Given the description of an element on the screen output the (x, y) to click on. 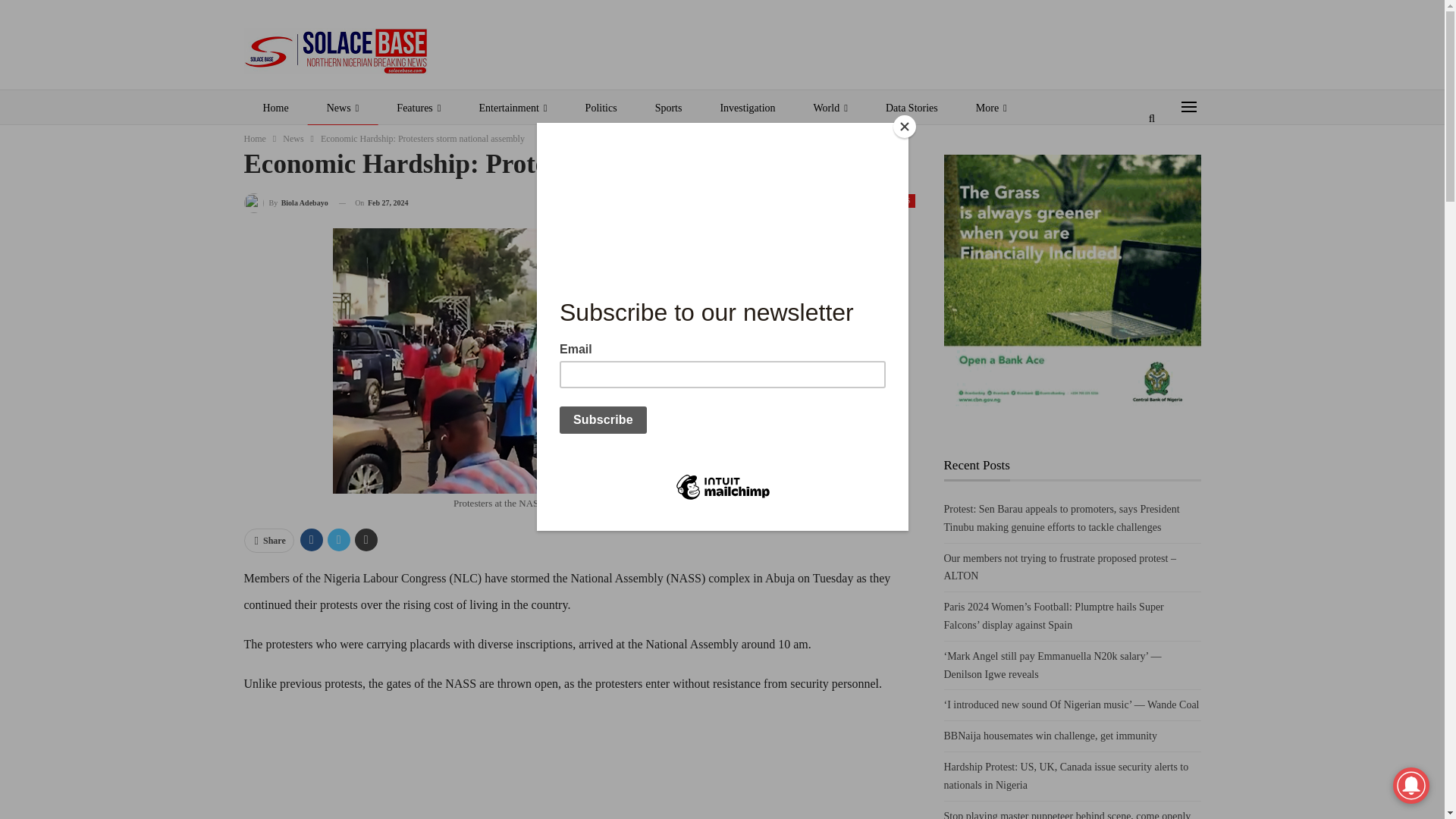
Sports (668, 108)
Home (255, 138)
Entertainment (513, 108)
Advertisement (579, 764)
Home (275, 108)
News (342, 108)
Data Stories (911, 108)
News (292, 138)
World (830, 108)
Politics (601, 108)
Investigation (746, 108)
By Biola Adebayo (286, 202)
More (991, 108)
Features (418, 108)
Browse Author Articles (286, 202)
